Given the description of an element on the screen output the (x, y) to click on. 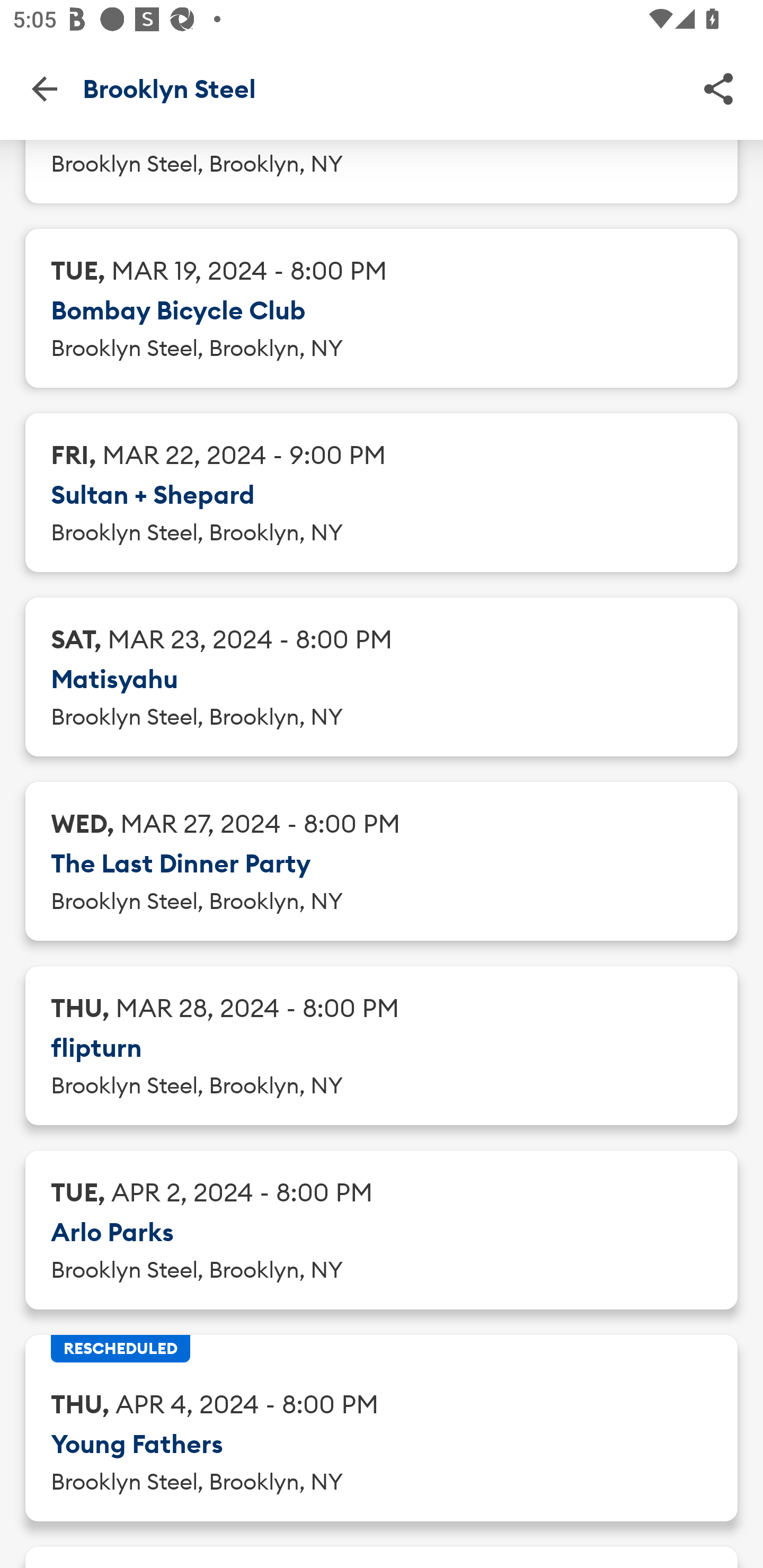
BackButton (44, 88)
Share (718, 88)
